Given the description of an element on the screen output the (x, y) to click on. 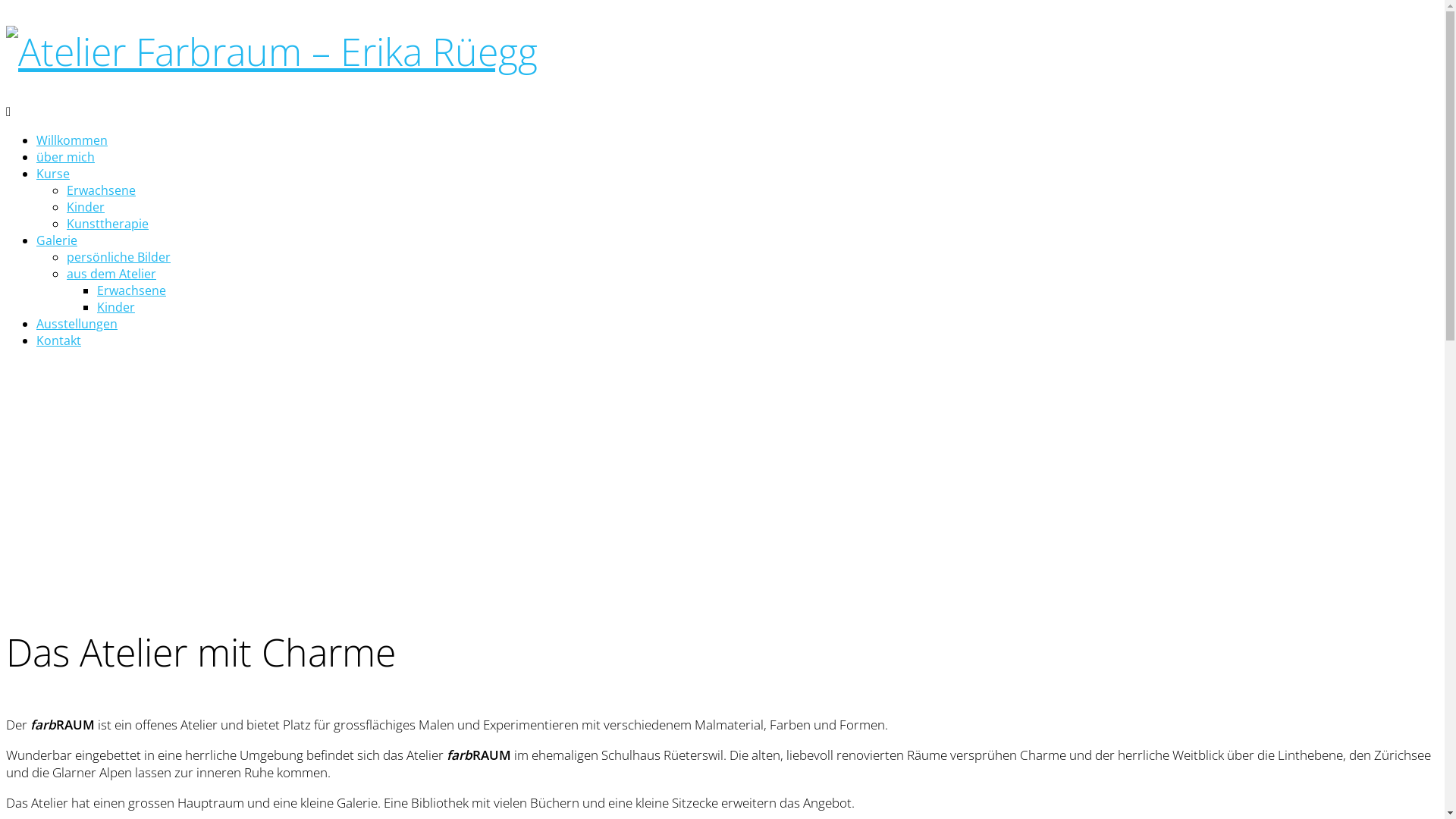
Kurse Element type: text (52, 173)
Kinder Element type: text (85, 206)
Kontakt Element type: text (58, 340)
Kinder Element type: text (115, 306)
Erwachsene Element type: text (131, 290)
Ausstellungen Element type: text (76, 323)
Willkommen Element type: text (71, 139)
Kunsttherapie Element type: text (107, 223)
Galerie Element type: text (56, 240)
aus dem Atelier Element type: text (111, 273)
Erwachsene Element type: text (100, 190)
